Given the description of an element on the screen output the (x, y) to click on. 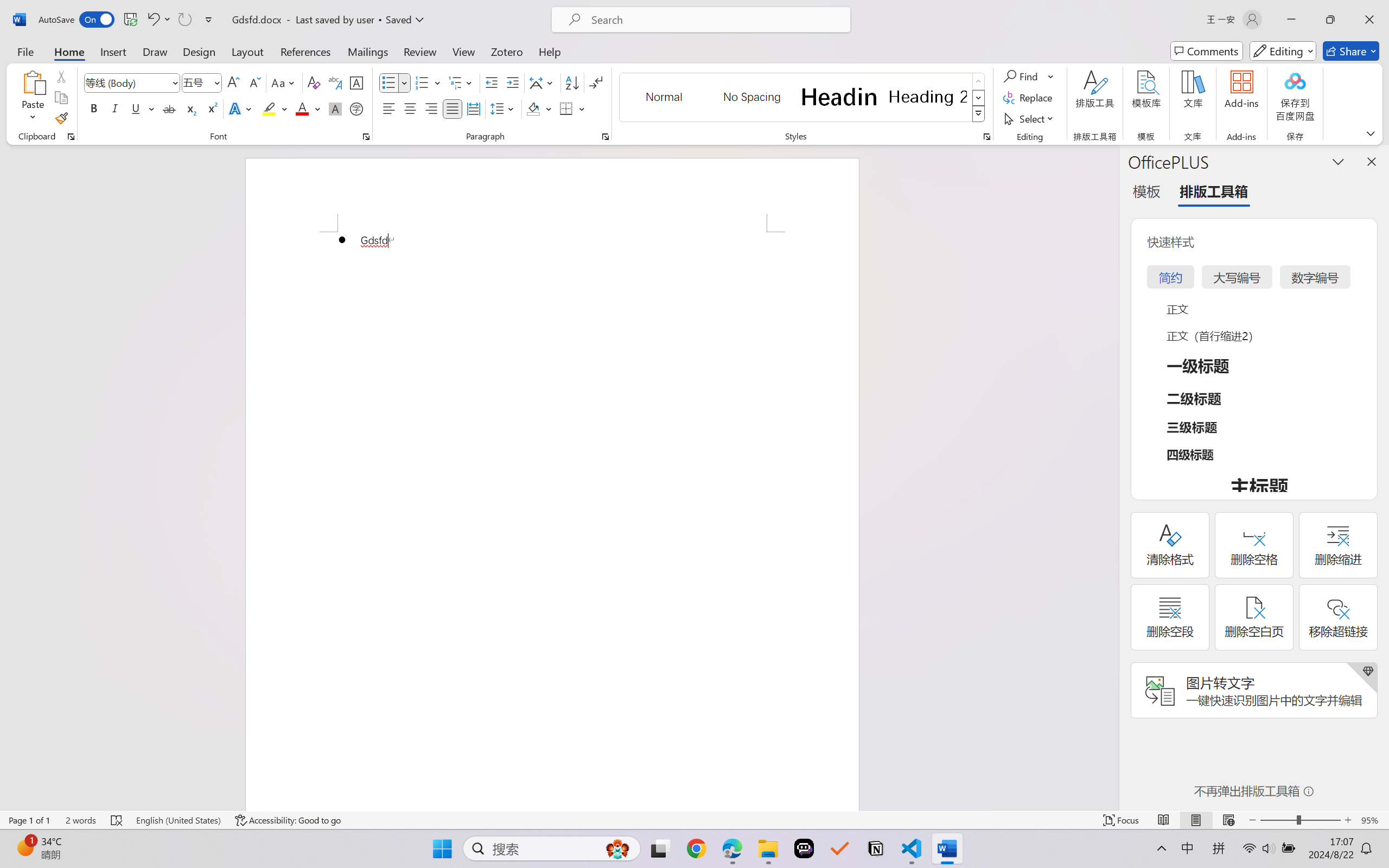
Page 1 content (552, 521)
Task Pane Options (1338, 161)
